Given the description of an element on the screen output the (x, y) to click on. 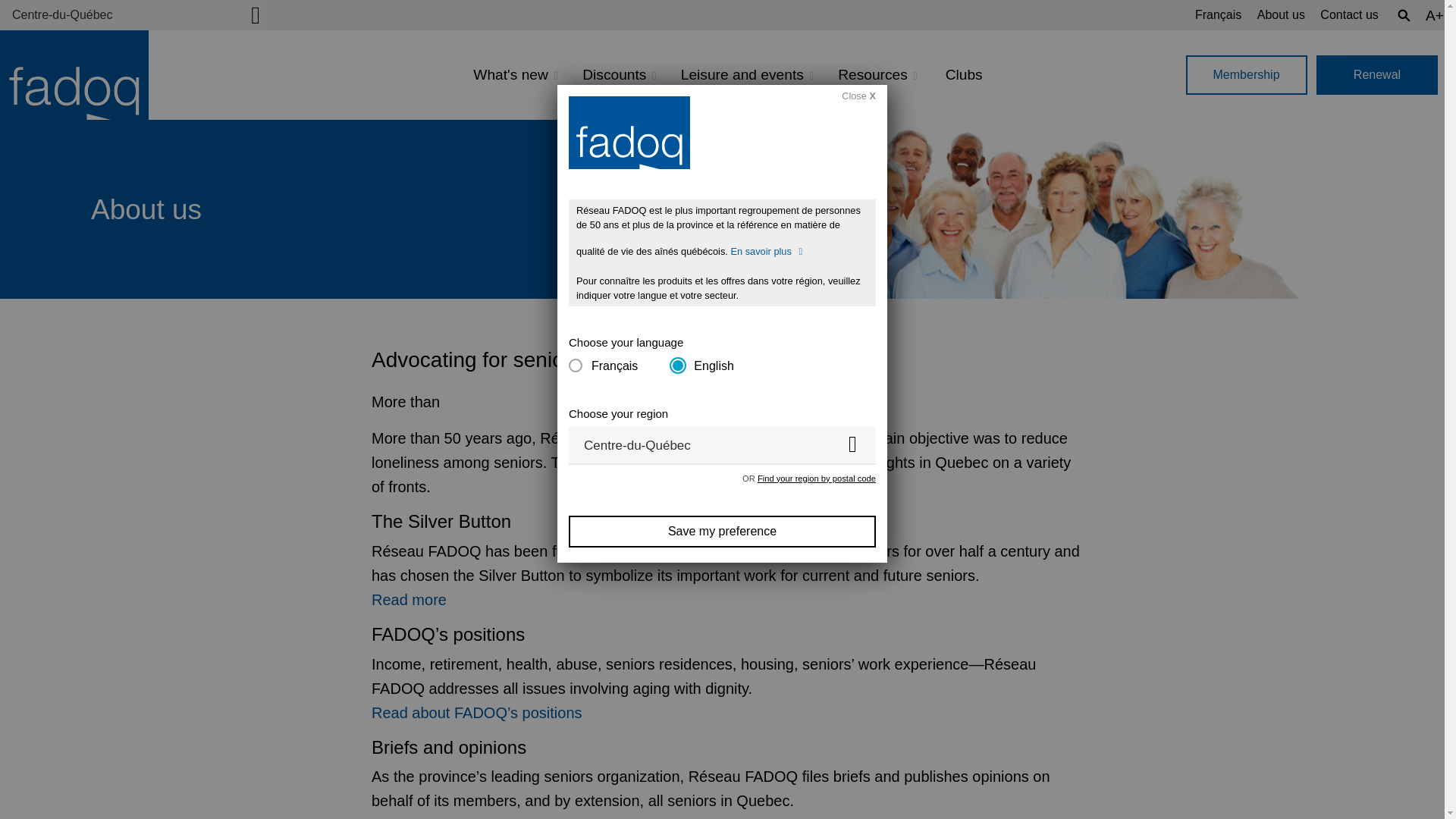
Contact us (1348, 14)
Discounts (619, 74)
Save my preference (722, 531)
What's new (515, 74)
About us (1280, 14)
